Given the description of an element on the screen output the (x, y) to click on. 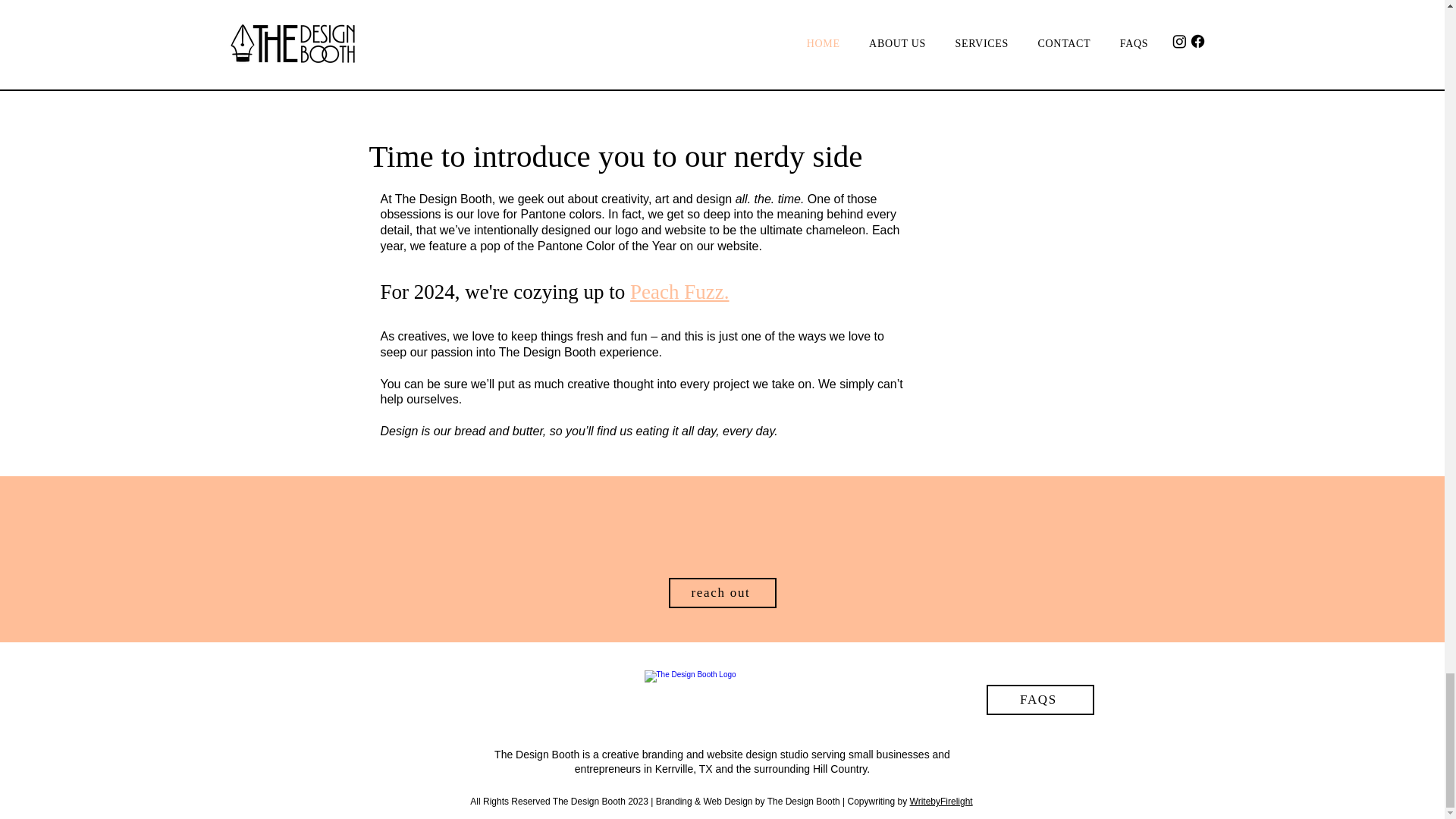
reach out (722, 593)
FAQS (1039, 699)
SO TELL US ALL ABOUT IT! (582, 42)
Peach Fuzz. (679, 291)
WritebyFirelight (941, 801)
